Given the description of an element on the screen output the (x, y) to click on. 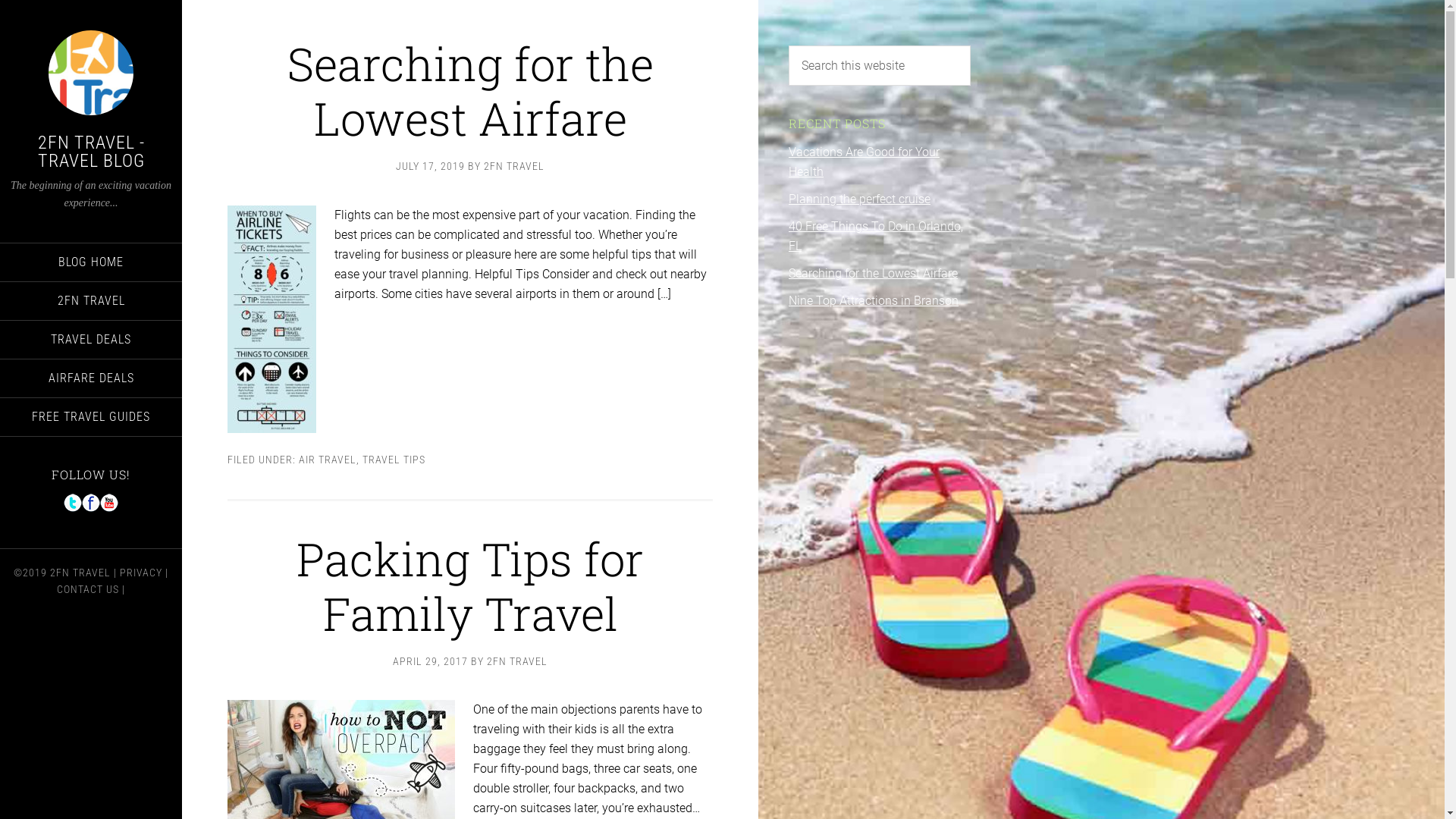
PRIVACY Element type: text (140, 572)
Contact Us Element type: text (87, 28)
Searching for the Lowest Airfare Element type: text (469, 90)
FREE TRAVEL GUIDES Element type: text (91, 416)
Planning the perfect cruise Element type: text (859, 198)
CONTACT US Element type: text (87, 589)
Nine Top Attractions in Branson Element type: text (873, 300)
Packing Tips for Family Travel Element type: text (469, 584)
2FN TRAVEL Element type: text (513, 166)
Search Element type: text (969, 44)
BLOG HOME Element type: text (91, 261)
Searching for the Lowest Airfare Element type: text (872, 273)
TRAVEL TIPS Element type: text (393, 459)
Vacations Are Good for Your Health Element type: text (863, 161)
AIRFARE DEALS Element type: text (91, 378)
Privacy Element type: text (151, 9)
AIR TRAVEL Element type: text (327, 459)
Advertisement Element type: hover (879, 568)
40 Free Things To Do in Orlando, FL Element type: text (875, 236)
2FN TRAVEL Element type: text (80, 572)
2FN TRAVEL - TRAVEL BLOG Element type: text (90, 151)
TRAVEL DEALS Element type: text (91, 338)
2FN TRAVEL Element type: text (516, 661)
2FN TRAVEL Element type: text (91, 301)
